Given the description of an element on the screen output the (x, y) to click on. 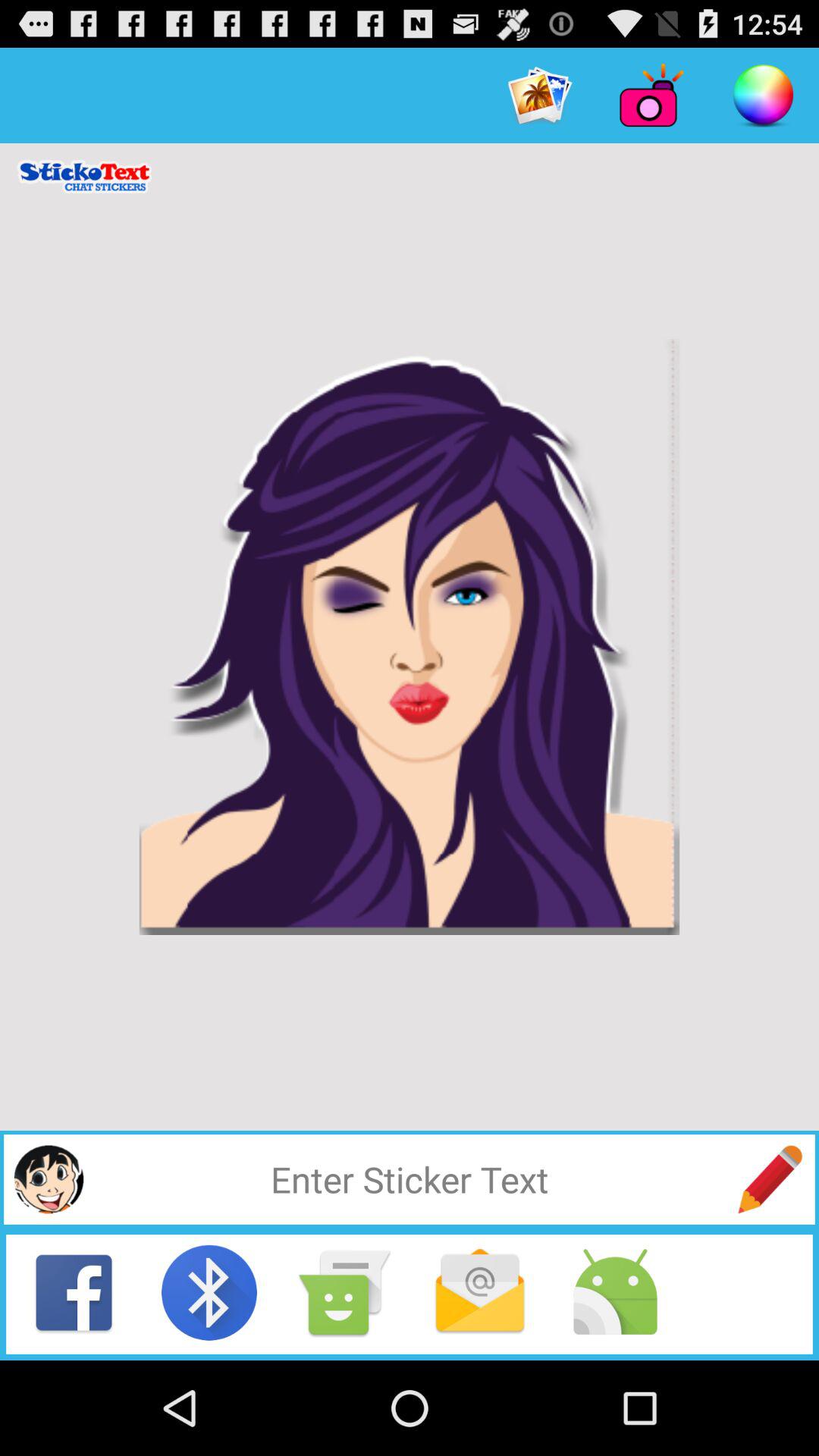
share on facebook (73, 1292)
